Given the description of an element on the screen output the (x, y) to click on. 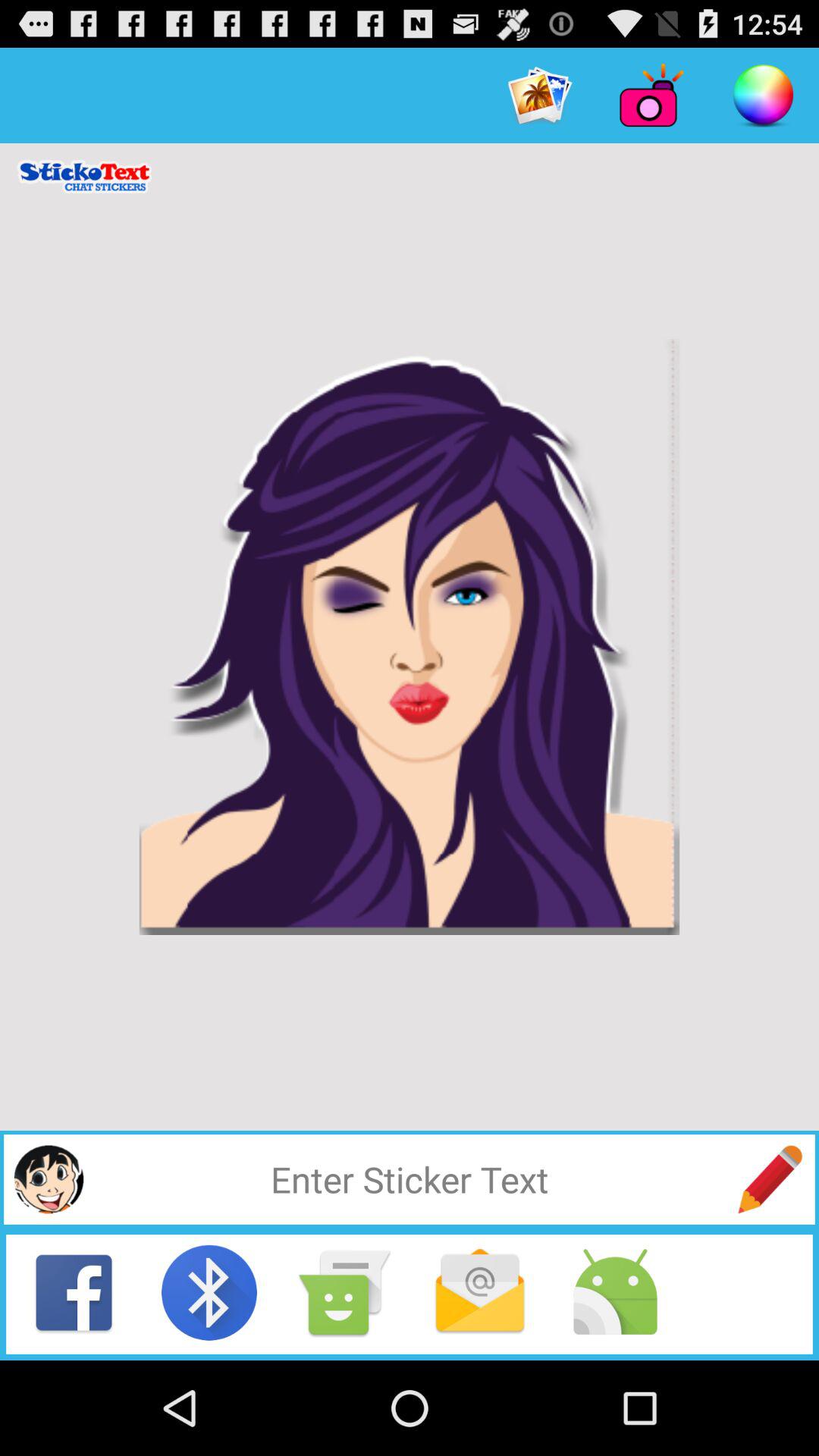
share on facebook (73, 1292)
